Given the description of an element on the screen output the (x, y) to click on. 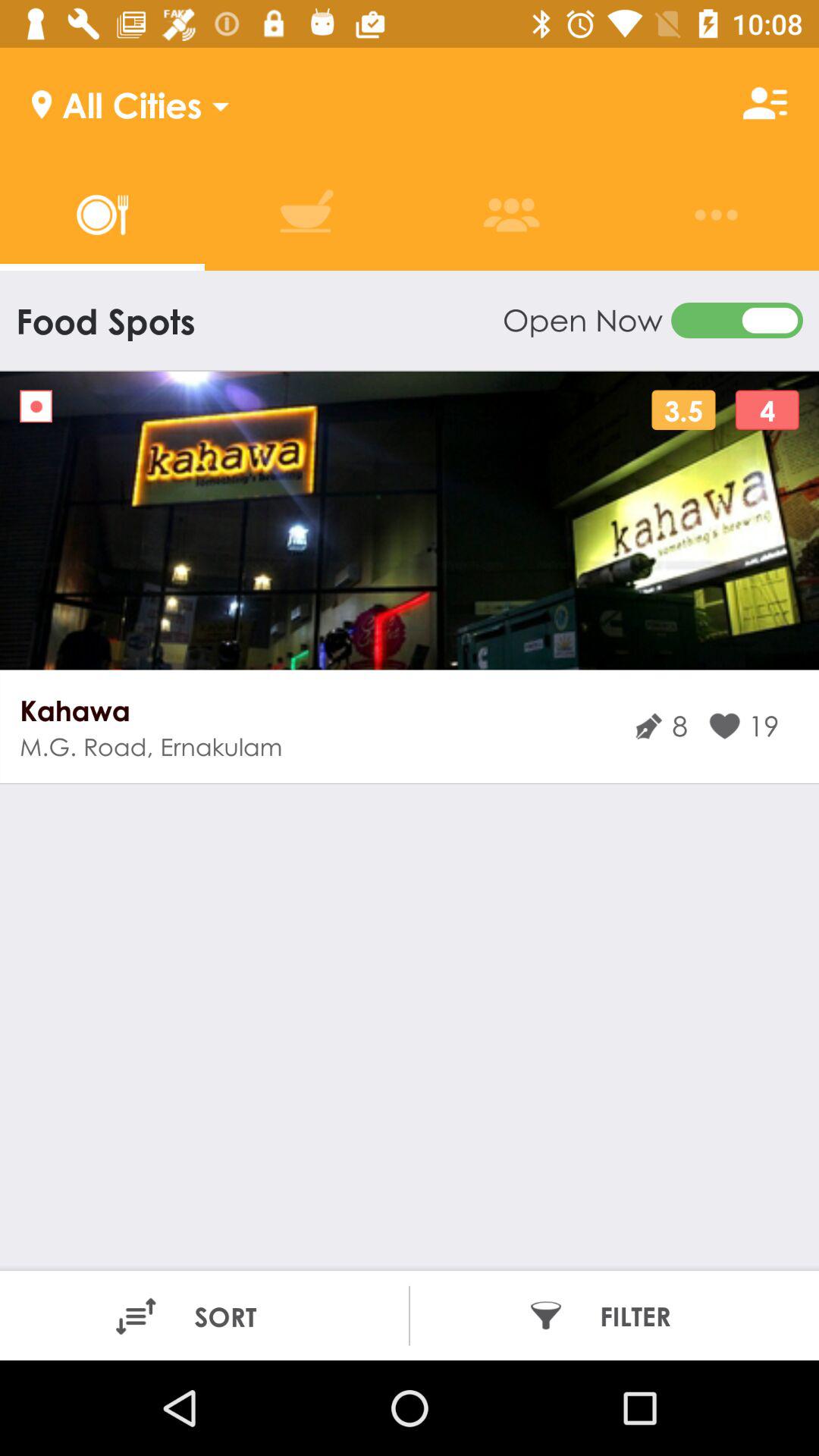
click on text all cities (116, 103)
option beside the food symbol option (306, 215)
select the drop down right to all cities (215, 103)
click on the symbol which is beside all cities (765, 103)
